Given the description of an element on the screen output the (x, y) to click on. 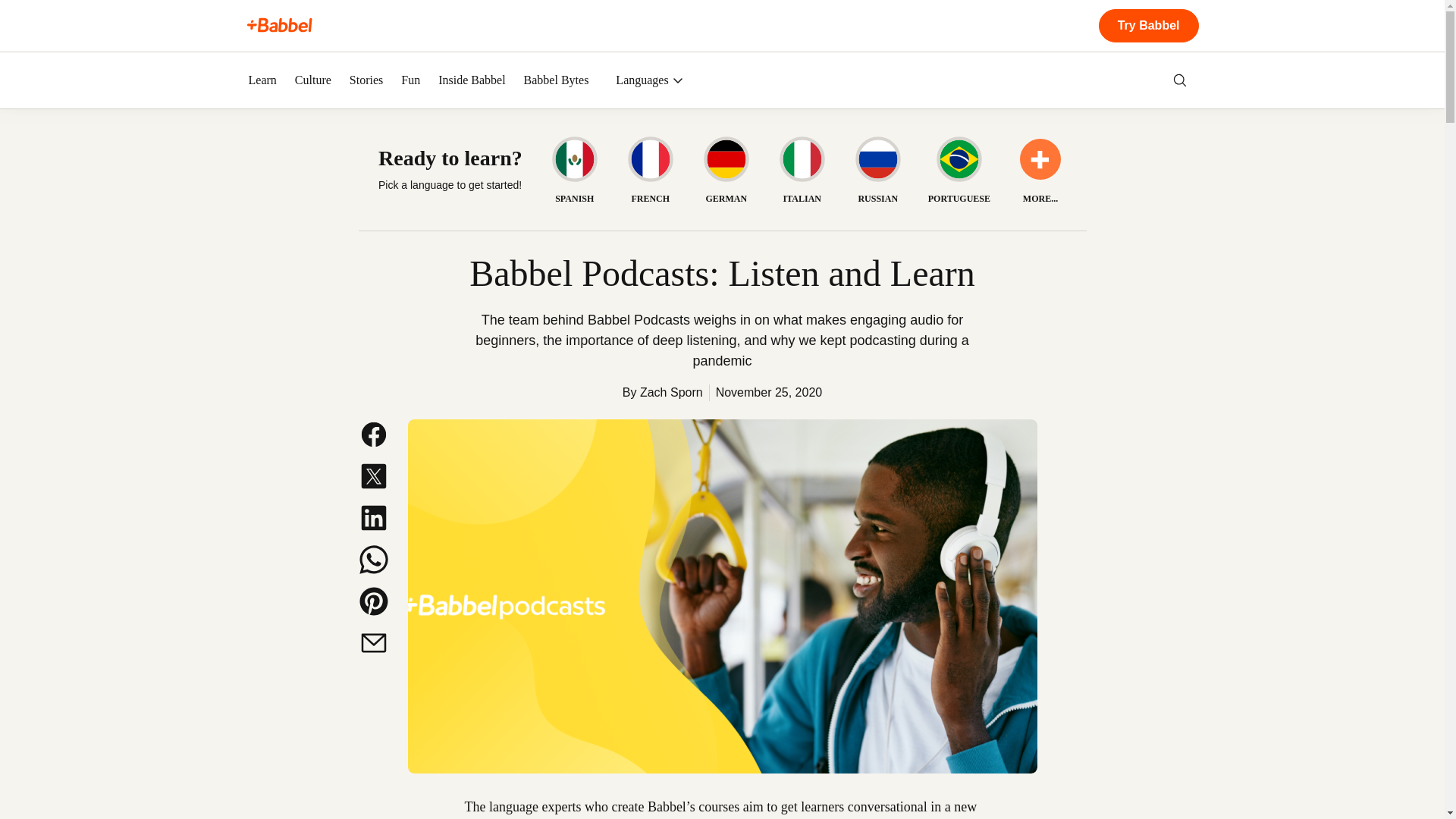
Languages (650, 80)
Inside Babbel (471, 79)
Toggle Search (1179, 80)
Learn (262, 79)
Stories (365, 79)
Try Babbel (1148, 25)
Babbel Bytes (556, 79)
Fun (410, 79)
Culture (313, 79)
